Given the description of an element on the screen output the (x, y) to click on. 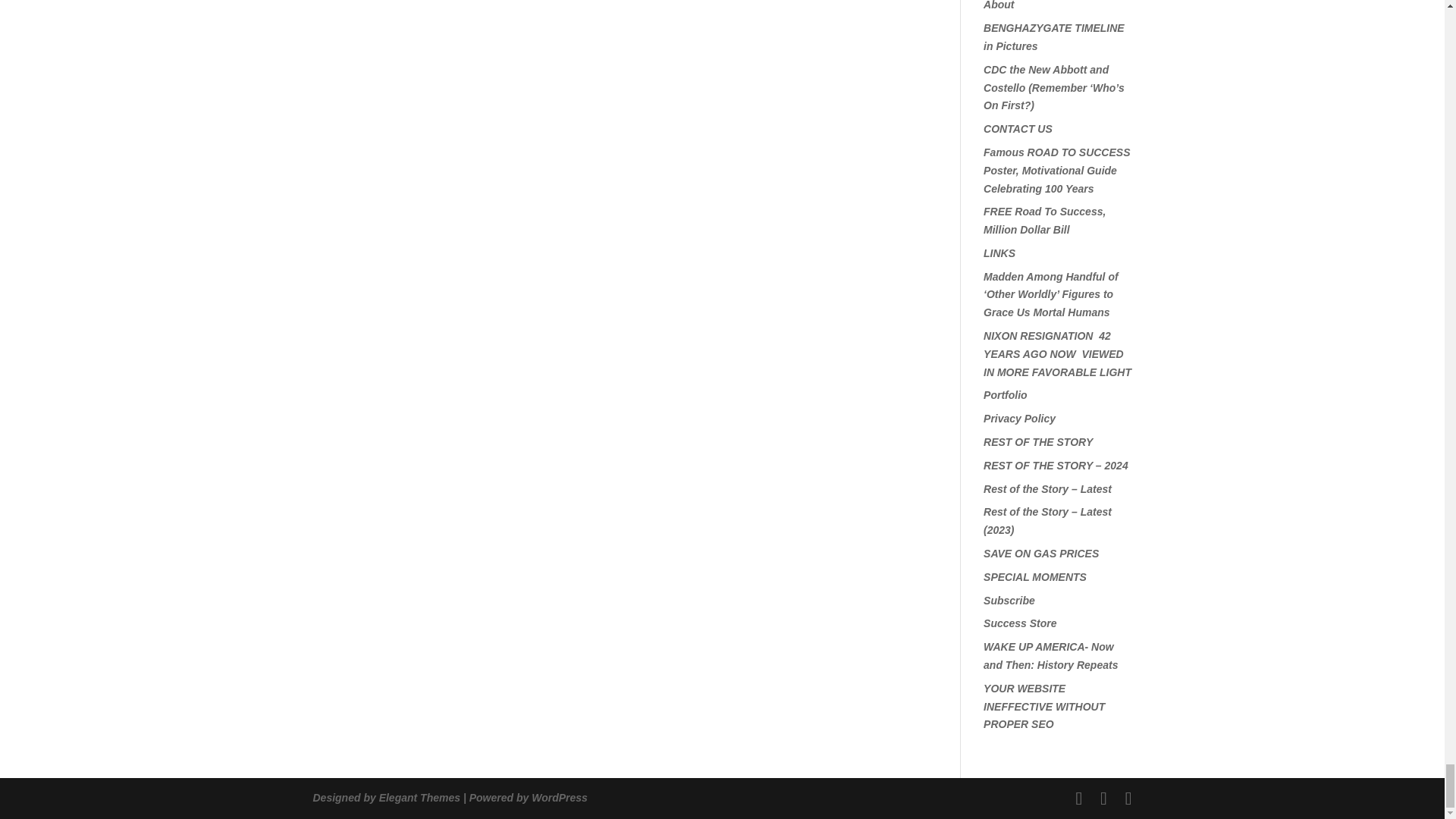
Premium WordPress Themes (419, 797)
